Given the description of an element on the screen output the (x, y) to click on. 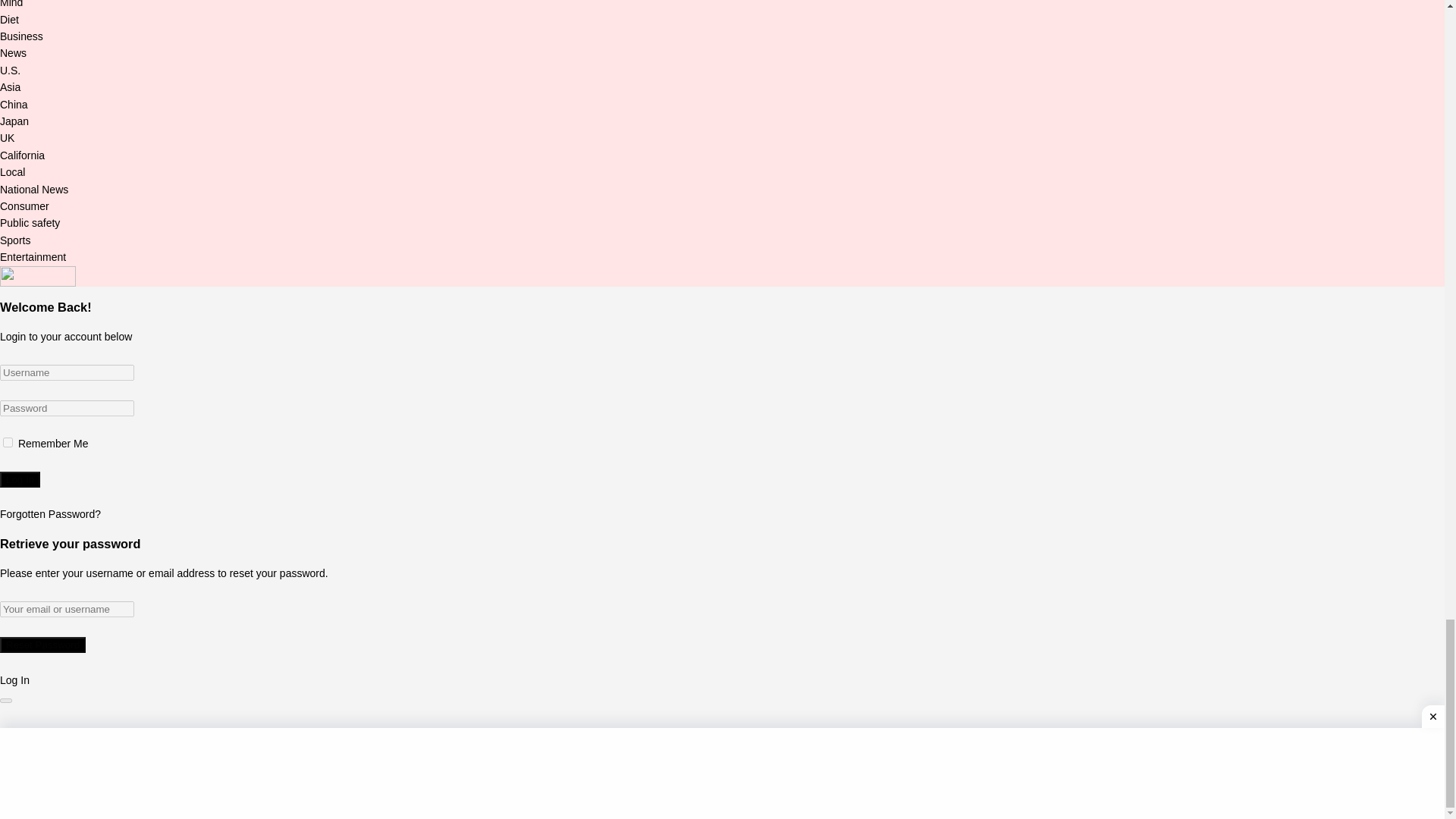
Reset Password (42, 644)
true (7, 442)
Log In (20, 479)
